Given the description of an element on the screen output the (x, y) to click on. 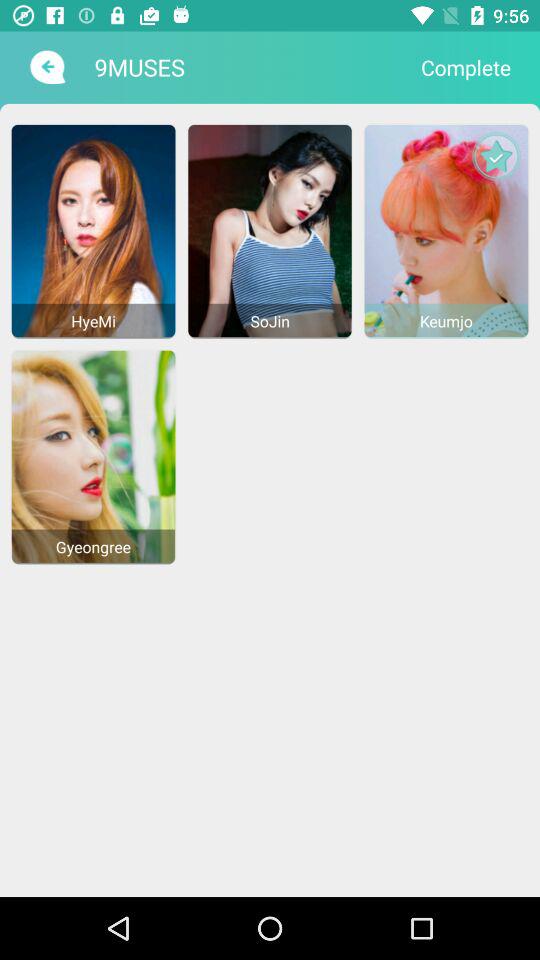
launch the icon to the right of the 9muses (465, 67)
